Given the description of an element on the screen output the (x, y) to click on. 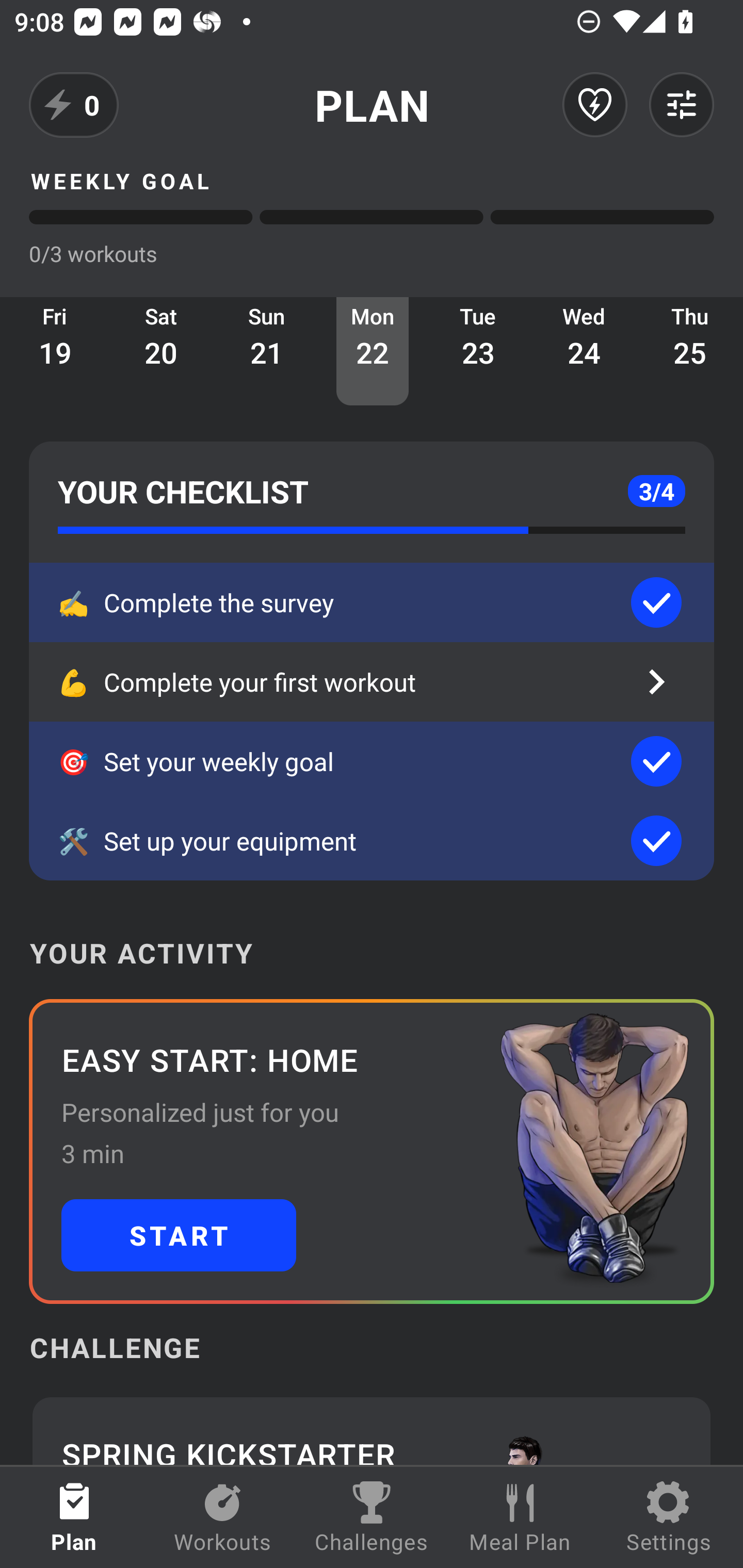
0 (73, 104)
Fri 19 (55, 351)
Sat 20 (160, 351)
Sun 21 (266, 351)
Mon 22 (372, 351)
Tue 23 (478, 351)
Wed 24 (584, 351)
Thu 25 (690, 351)
💪 Complete your first workout (371, 681)
START (178, 1235)
 Workouts  (222, 1517)
 Challenges  (371, 1517)
 Meal Plan  (519, 1517)
 Settings  (668, 1517)
